Given the description of an element on the screen output the (x, y) to click on. 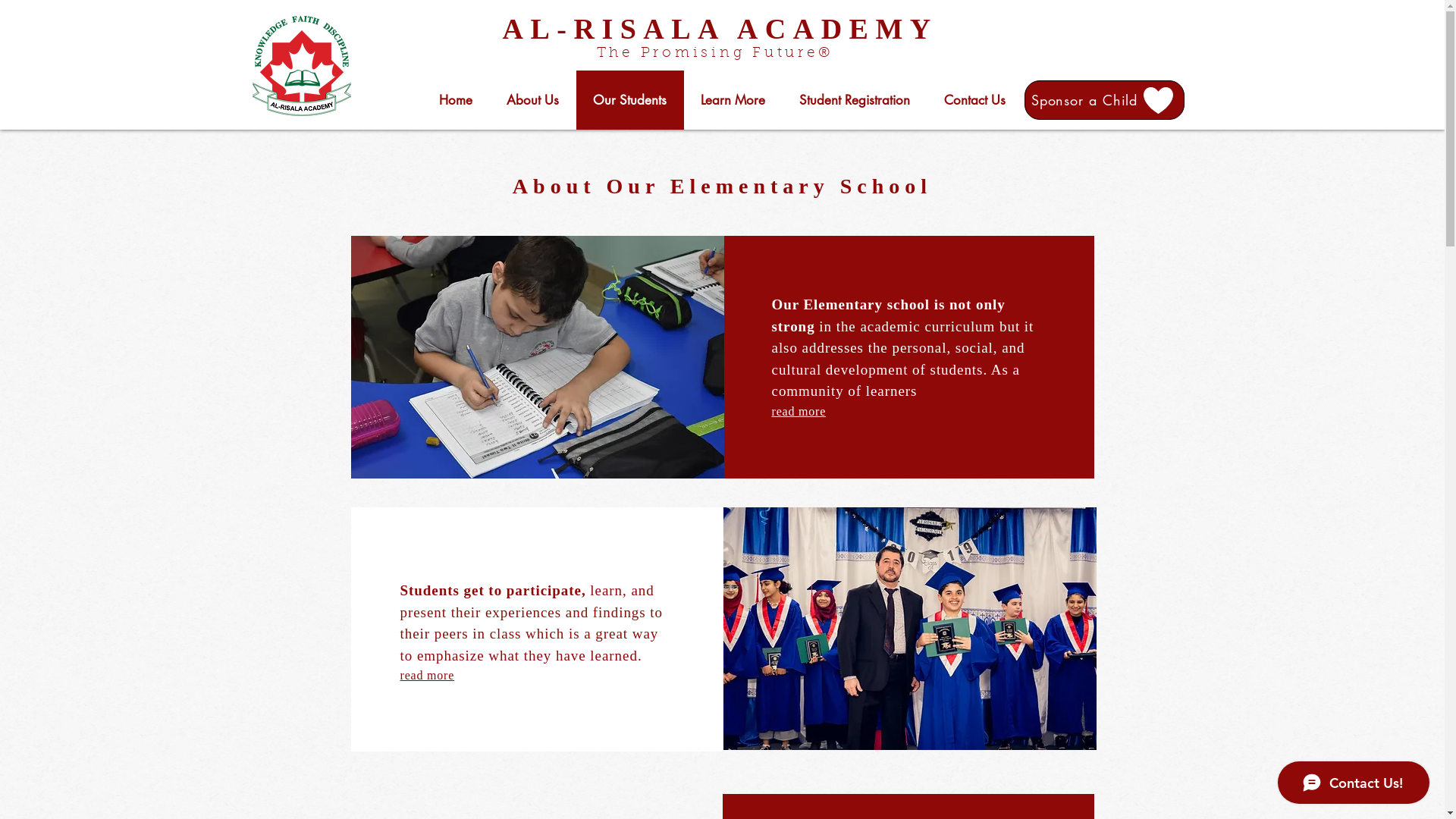
read more Element type: text (798, 410)
Contact Us Element type: text (974, 99)
Our Students Element type: text (630, 99)
About Us Element type: text (532, 99)
Sponsor a Child Element type: text (1103, 99)
Student Registration Element type: text (854, 99)
Learn More Element type: text (733, 99)
Home Element type: text (455, 99)
read more Element type: text (427, 674)
